Given the description of an element on the screen output the (x, y) to click on. 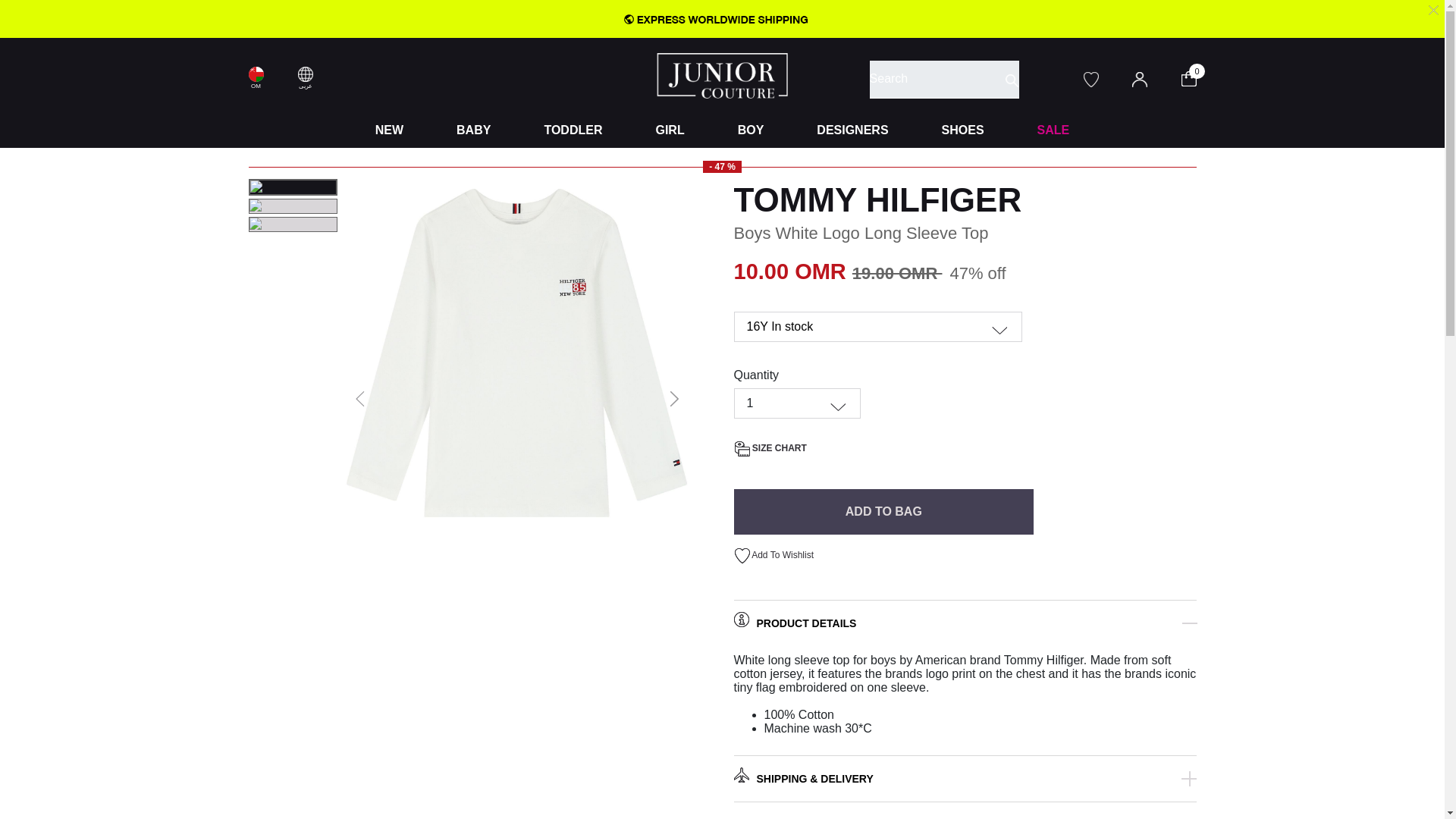
Juniour Couture Home (721, 74)
NEW (389, 130)
0 (1197, 77)
Cart 0 Items (1197, 77)
